Given the description of an element on the screen output the (x, y) to click on. 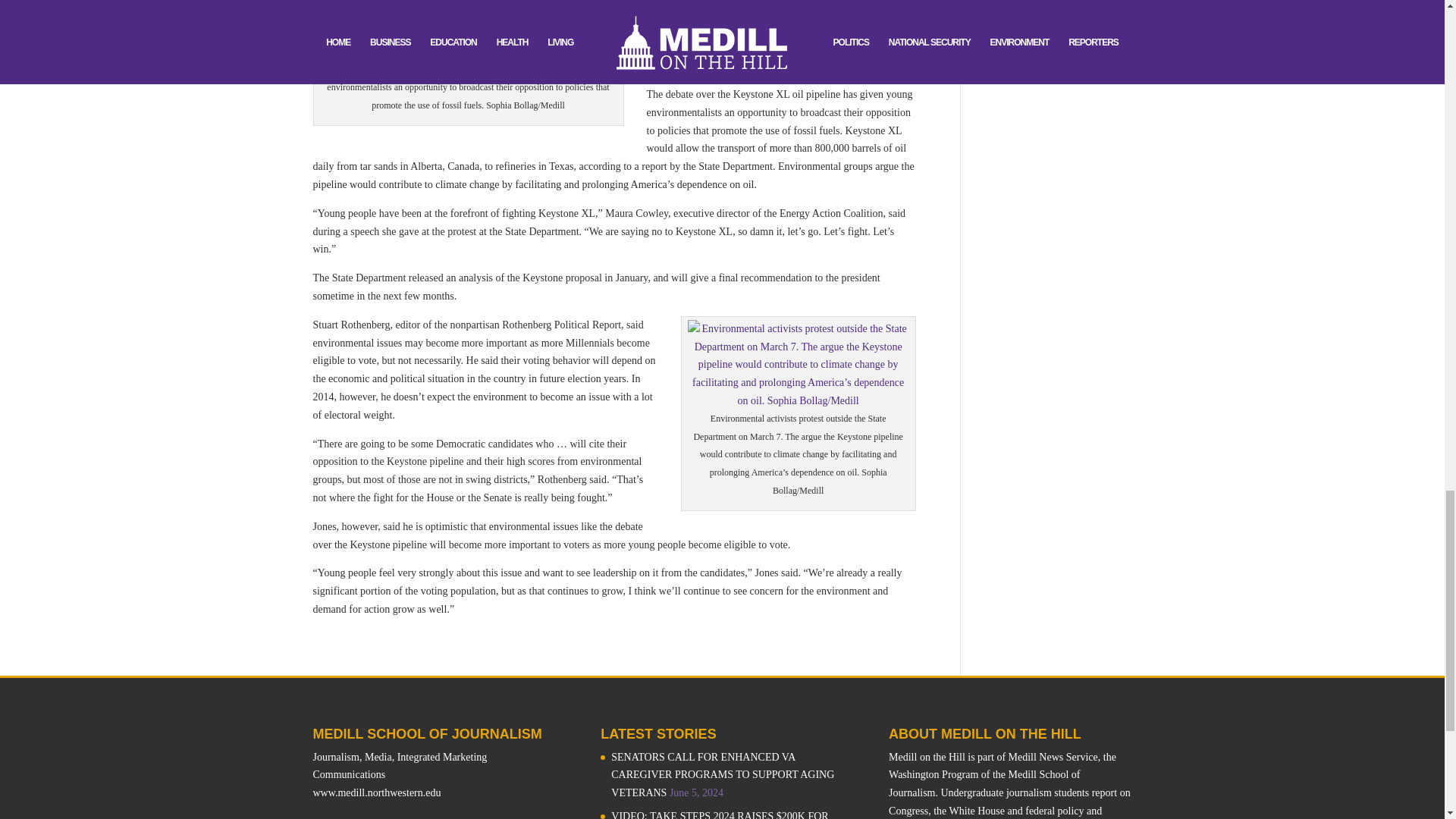
www.medill.northwestern.edu (377, 792)
